Given the description of an element on the screen output the (x, y) to click on. 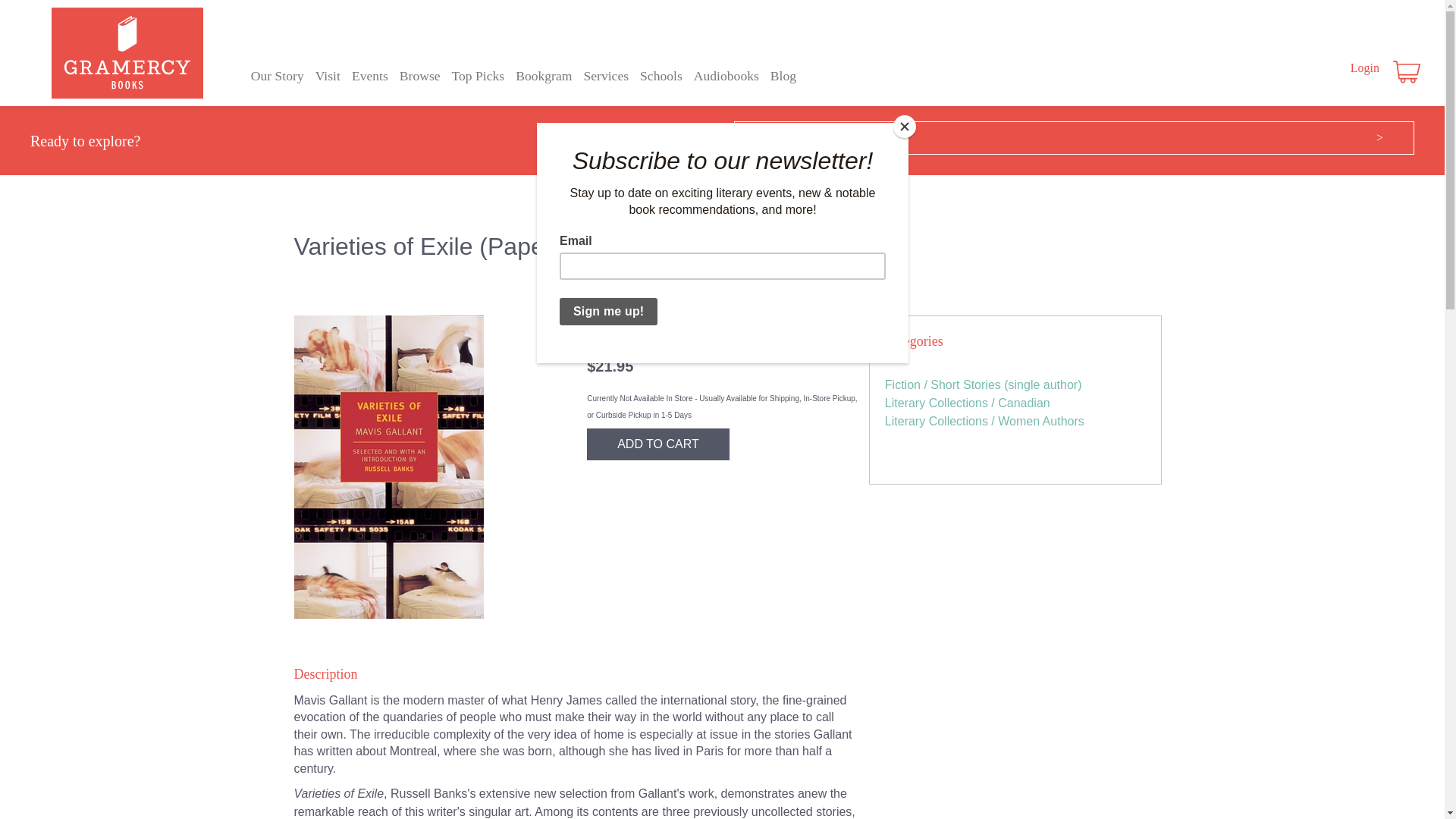
SEARCH (1039, 137)
Bookgram (543, 75)
Mavis Gallant (644, 323)
Add to Cart (657, 444)
Russell Banks (731, 323)
SEARCH (1039, 137)
Audiobooks (726, 75)
Add to Cart (657, 444)
